Given the description of an element on the screen output the (x, y) to click on. 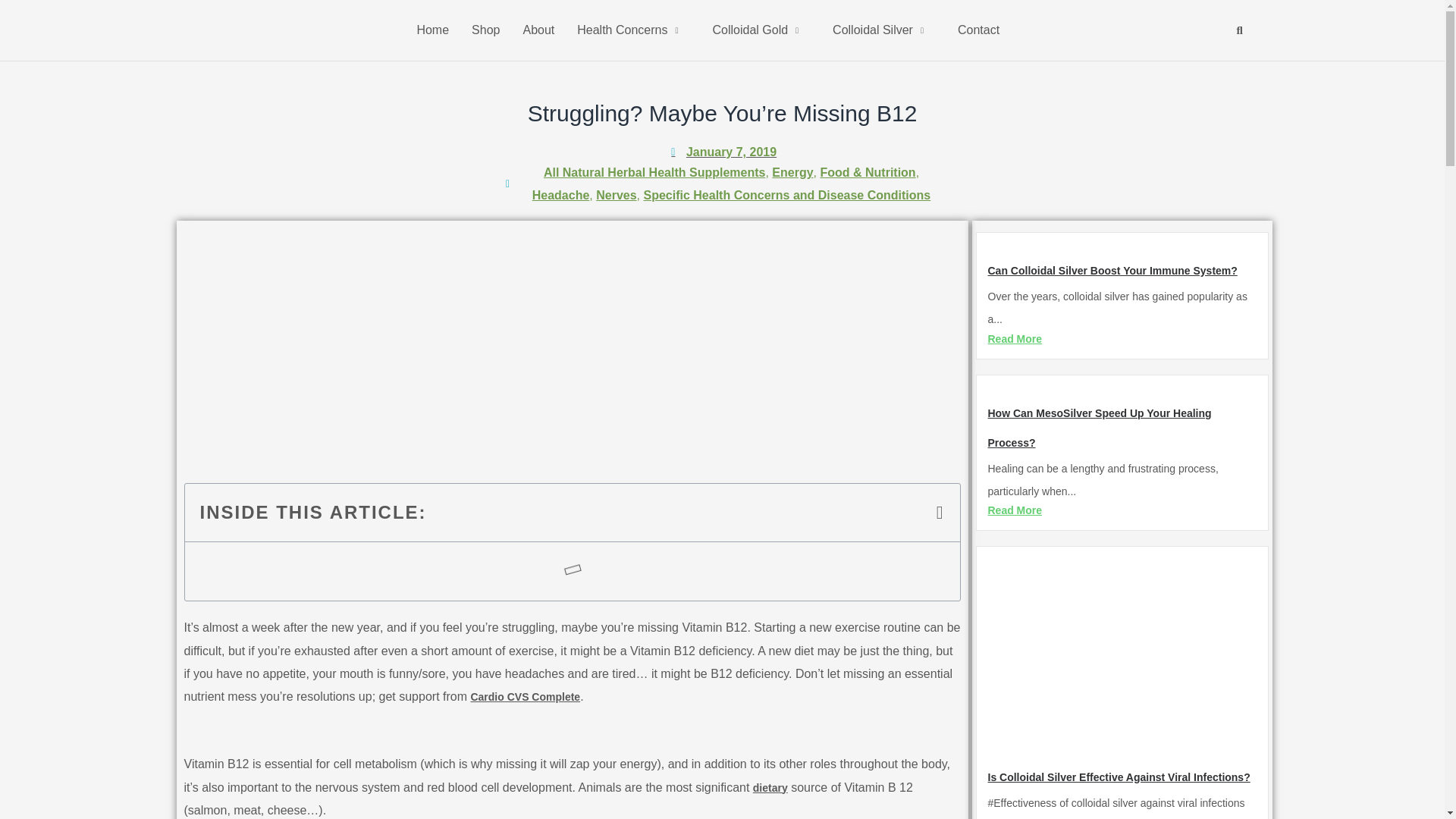
Colloidal Silver (883, 30)
Is Colloidal Silver Effective Against Viral Infections? (1118, 776)
Can Colloidal Silver Boost Your Immune System? (1111, 270)
Colloidal Gold (760, 30)
Health Concerns (633, 30)
How Can MesoSilver Speed Up Your Healing Process? (1099, 427)
About (538, 30)
Home (432, 30)
